Given the description of an element on the screen output the (x, y) to click on. 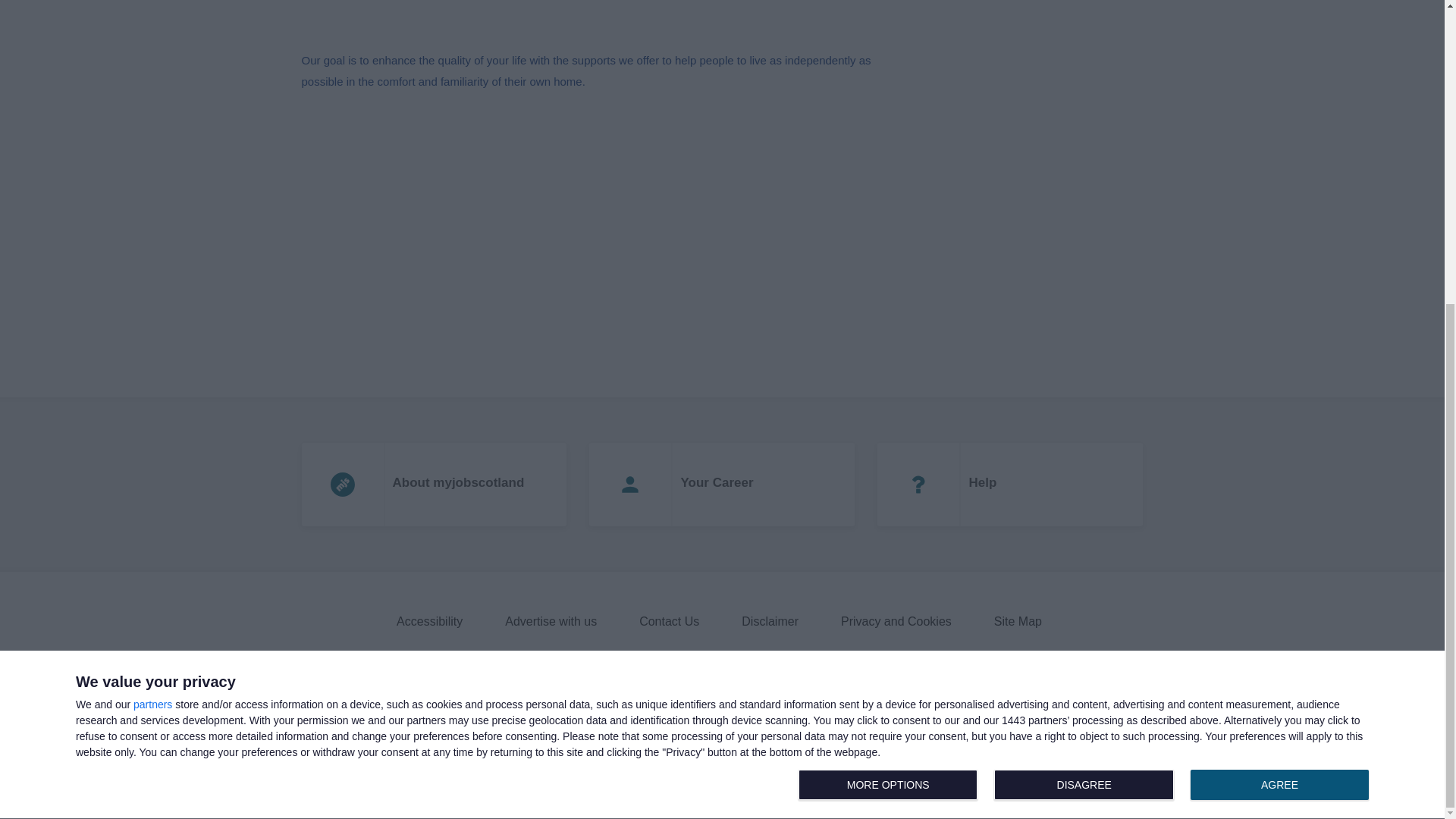
MORE OPTIONS (886, 308)
About myjobscotland (434, 484)
partners (152, 227)
Advertise with us (1086, 309)
Privacy and Cookies (553, 621)
Your Career (898, 621)
Disclaimer (721, 484)
Accessibility (772, 621)
AGREE (432, 621)
Contact Us (1279, 308)
Site Map (672, 621)
DISAGREE (1020, 621)
